Given the description of an element on the screen output the (x, y) to click on. 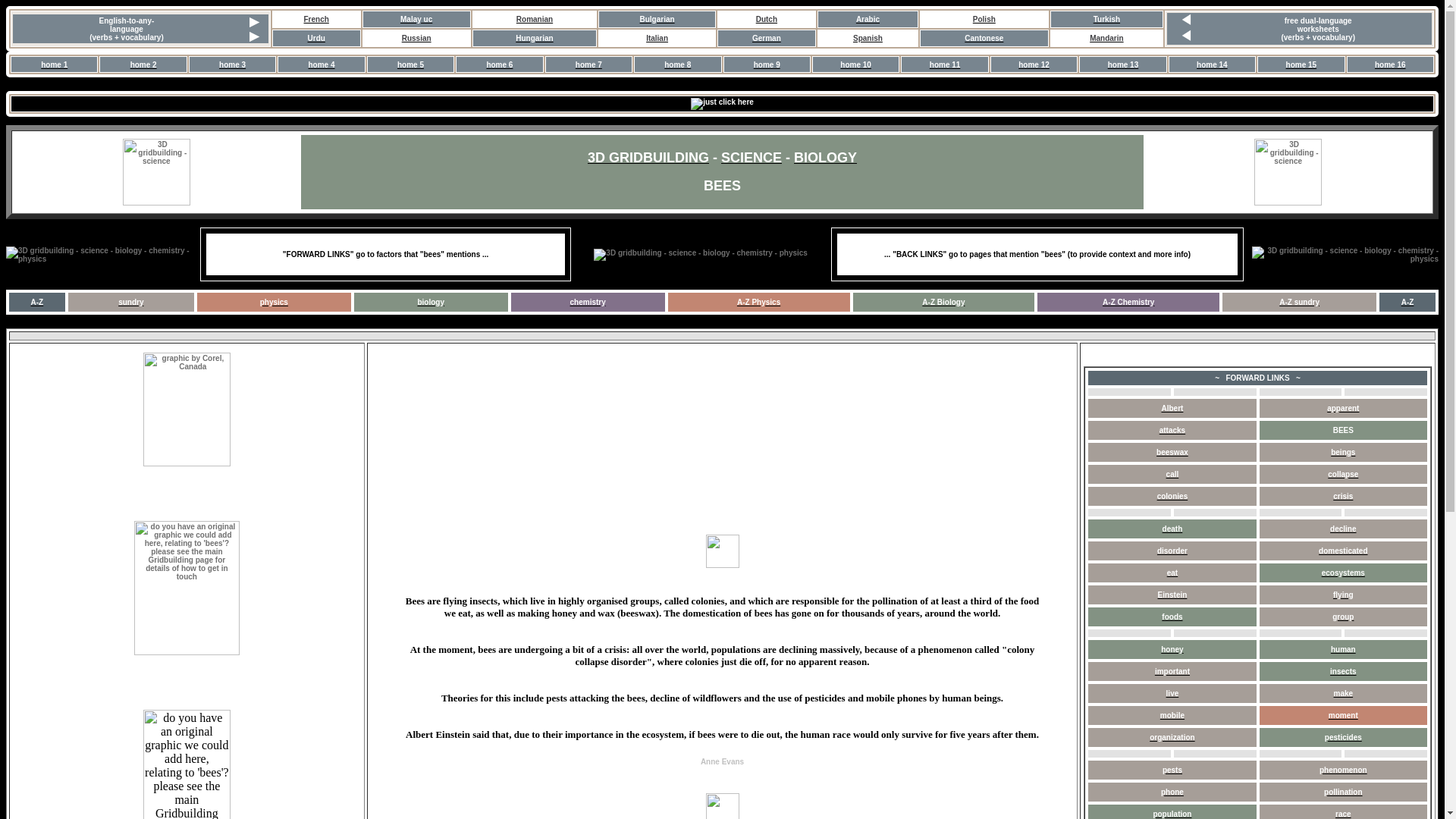
Dutch (766, 17)
Turkish (1106, 17)
home 13 (1123, 62)
Hungarian (534, 36)
home 7 (588, 62)
Malay uc (416, 17)
home 6 (499, 62)
home 14 (1211, 62)
home 16 (1390, 62)
Spanish (867, 36)
